Given the description of an element on the screen output the (x, y) to click on. 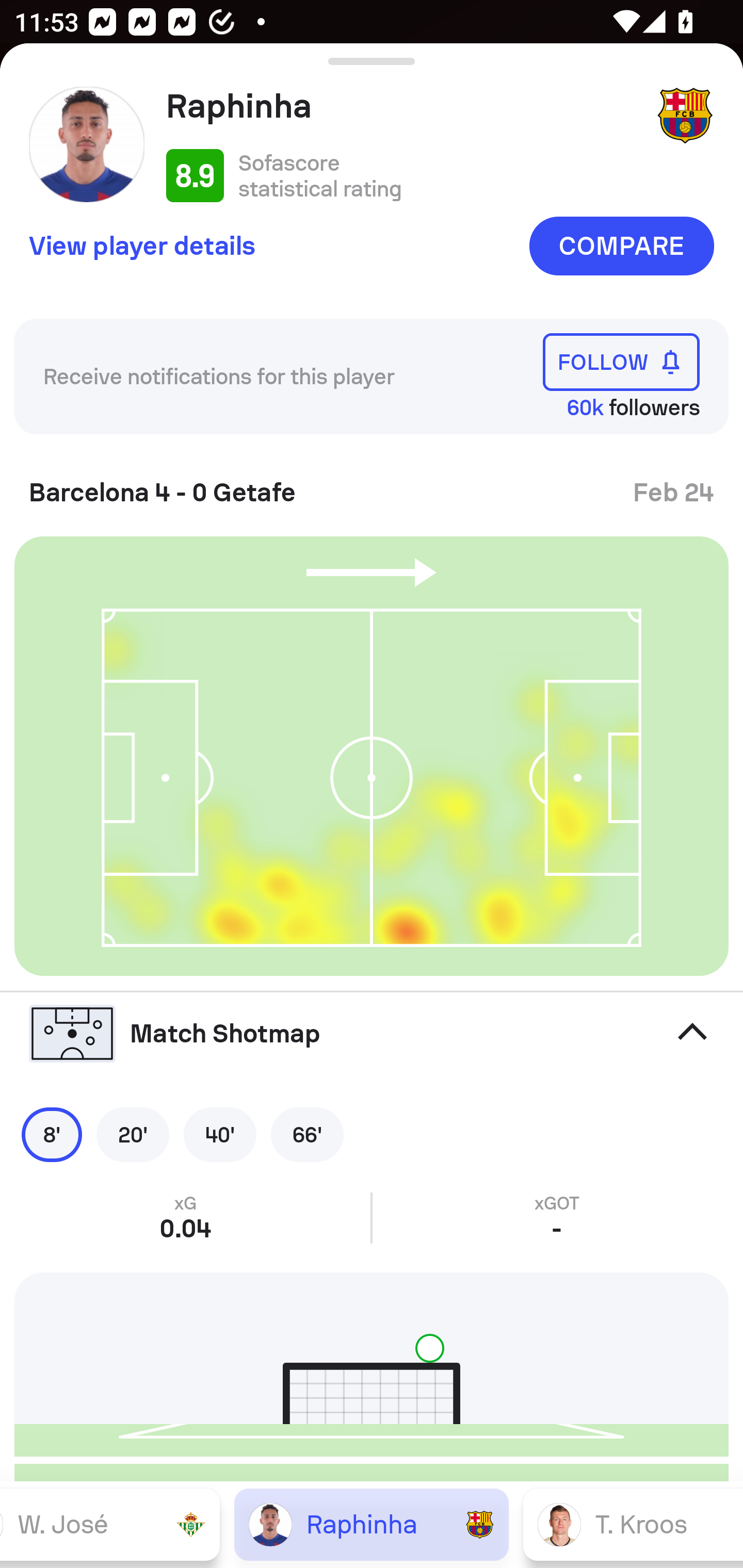
Raphinha (403, 105)
COMPARE (621, 245)
View player details (141, 245)
FOLLOW (621, 361)
Barcelona 4 - 0 Getafe Feb 24 (371, 485)
Match Shotmap (371, 1033)
8' (51, 1134)
20' (132, 1134)
40' (219, 1134)
66' (306, 1134)
W. José (109, 1524)
Raphinha (371, 1524)
T. Kroos (633, 1524)
